Given the description of an element on the screen output the (x, y) to click on. 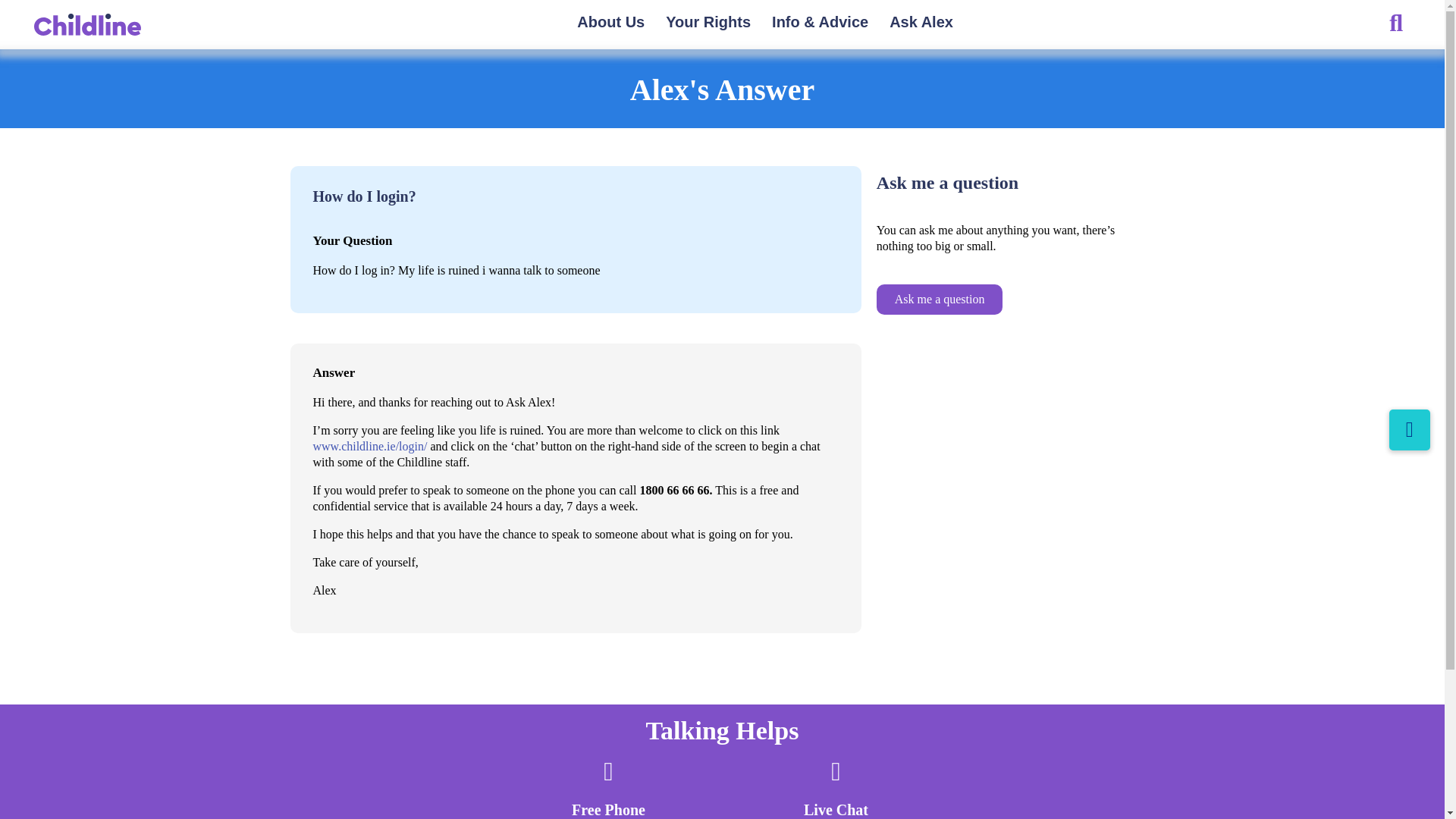
Your Rights (708, 24)
Ask Alex (921, 24)
About Us (610, 24)
